Given the description of an element on the screen output the (x, y) to click on. 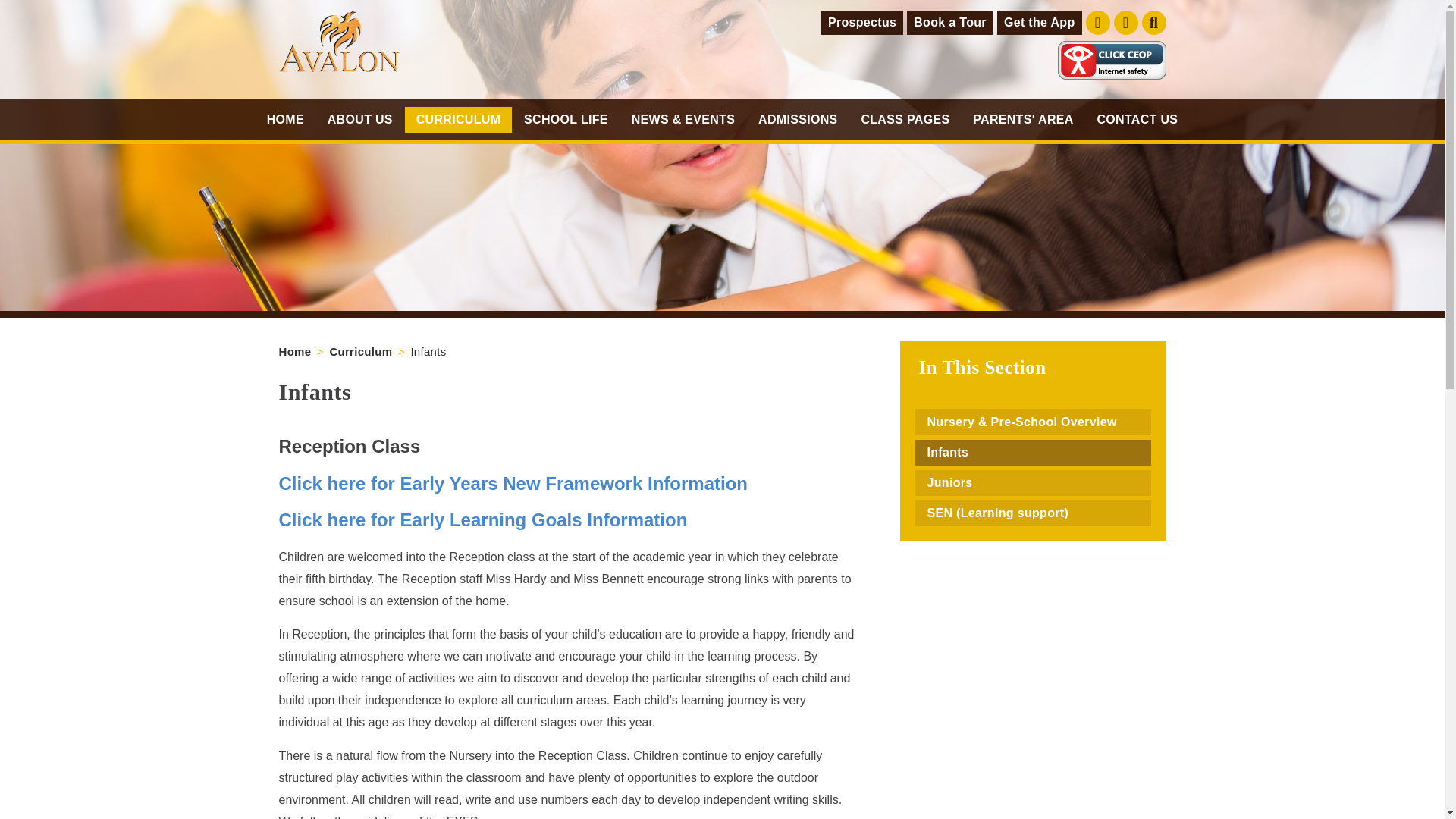
Infants (427, 350)
ADMISSIONS (798, 119)
ABOUT US (359, 119)
SCHOOL LIFE (566, 119)
Curriculum (360, 350)
Get the App (1039, 22)
Prospectus (861, 22)
CONTACT US (1137, 119)
Book a Tour (949, 22)
Home (295, 350)
CLASS PAGES (905, 119)
PARENTS' AREA (1023, 119)
HOME (285, 119)
CURRICULUM (457, 119)
